Given the description of an element on the screen output the (x, y) to click on. 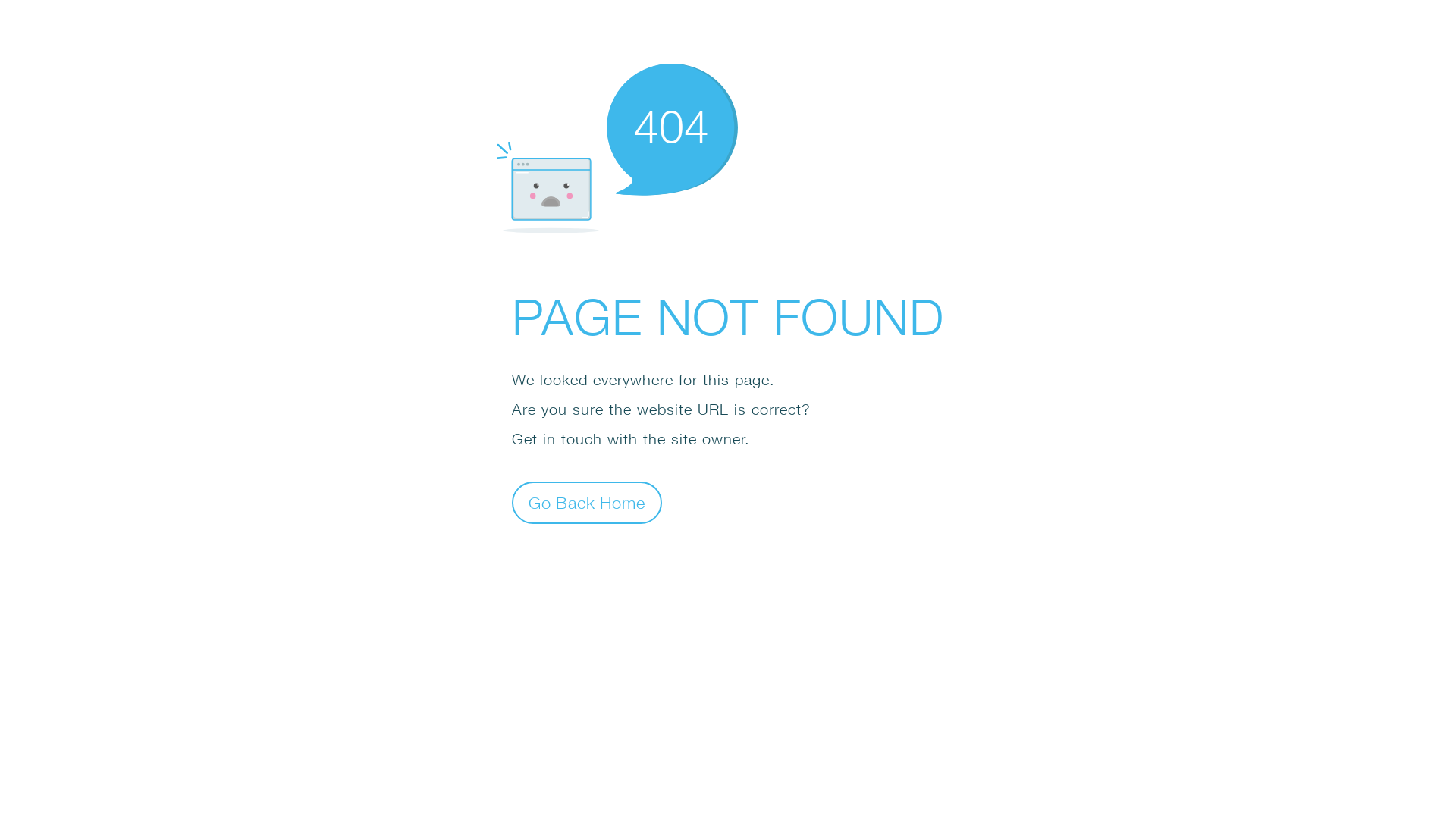
Go Back Home Element type: text (586, 502)
